Given the description of an element on the screen output the (x, y) to click on. 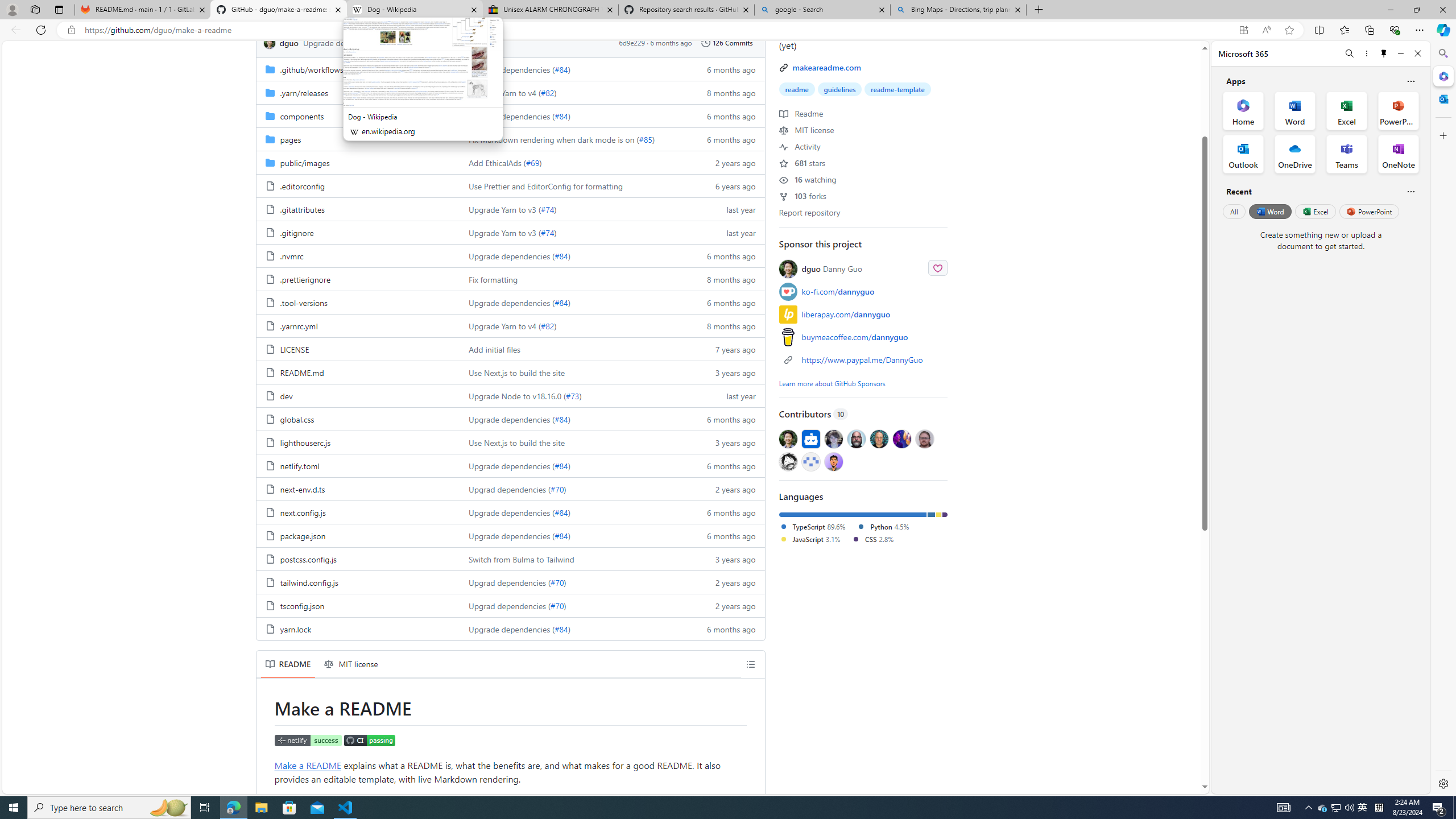
LICENSE, (File) (358, 348)
makeareadme.com (826, 67)
.editorconfig, (File) (301, 185)
Refresh (40, 29)
Dog - Wikipedia (414, 9)
JavaScript 3.1% (809, 538)
Fix Markdown rendering when dark mode is on (#85) (573, 138)
Switch from Bulma to Tailwind (573, 558)
AutomationID: folder-row-10 (510, 301)
Settings and more (Alt+F) (1419, 29)
.prettierignore, (File) (304, 279)
AutomationID: folder-row-2 (510, 115)
liberapay.com/dannyguo (862, 313)
pages, (Directory) (290, 138)
